Given the description of an element on the screen output the (x, y) to click on. 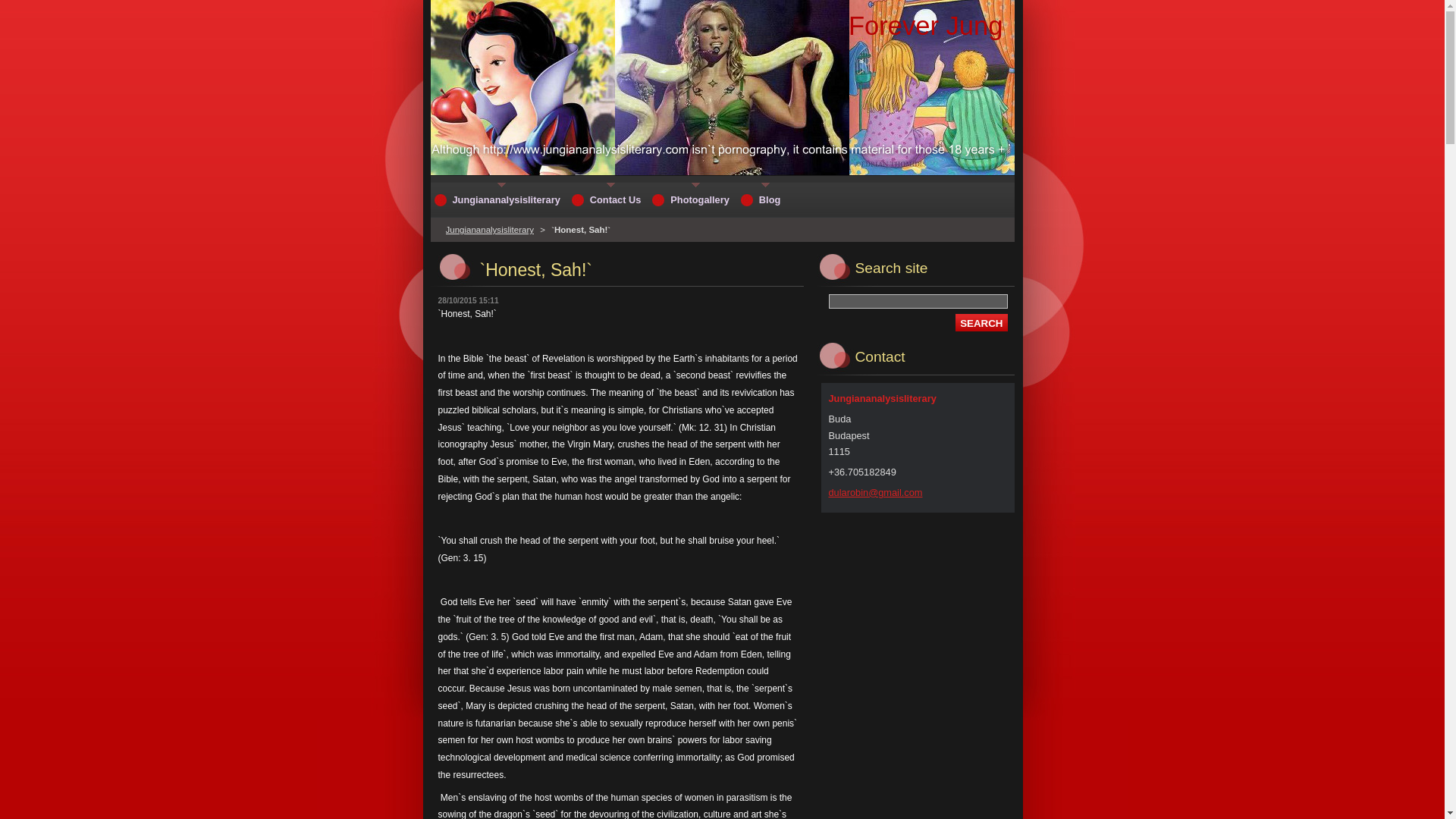
Photogallery (691, 199)
Search (981, 322)
Blog (761, 199)
Forever Jung (925, 25)
Contact Us (608, 199)
Go to Homepage. (925, 25)
Jungiananalysisliterary (489, 229)
Search (981, 322)
Jungiananalysisliterary (498, 199)
